Given the description of an element on the screen output the (x, y) to click on. 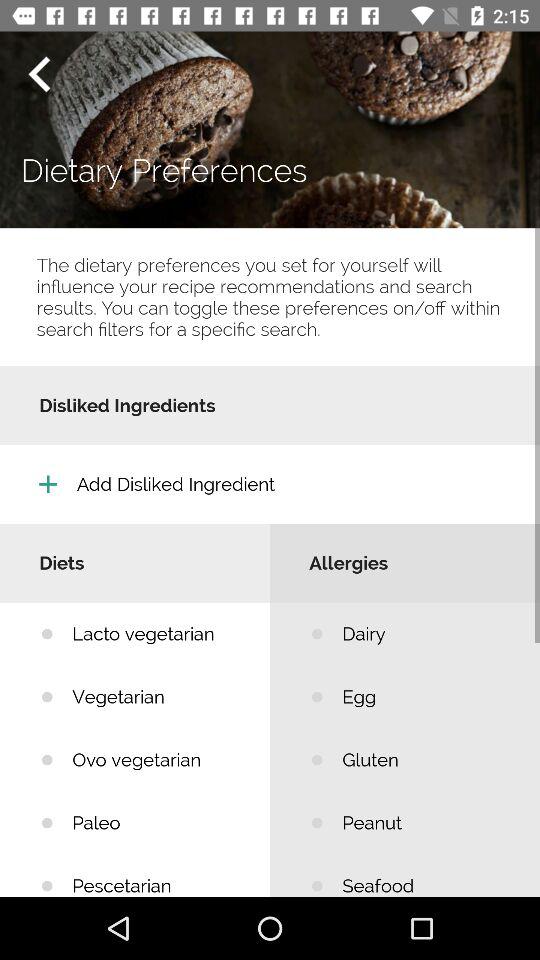
scroll to gluten item (426, 759)
